Given the description of an element on the screen output the (x, y) to click on. 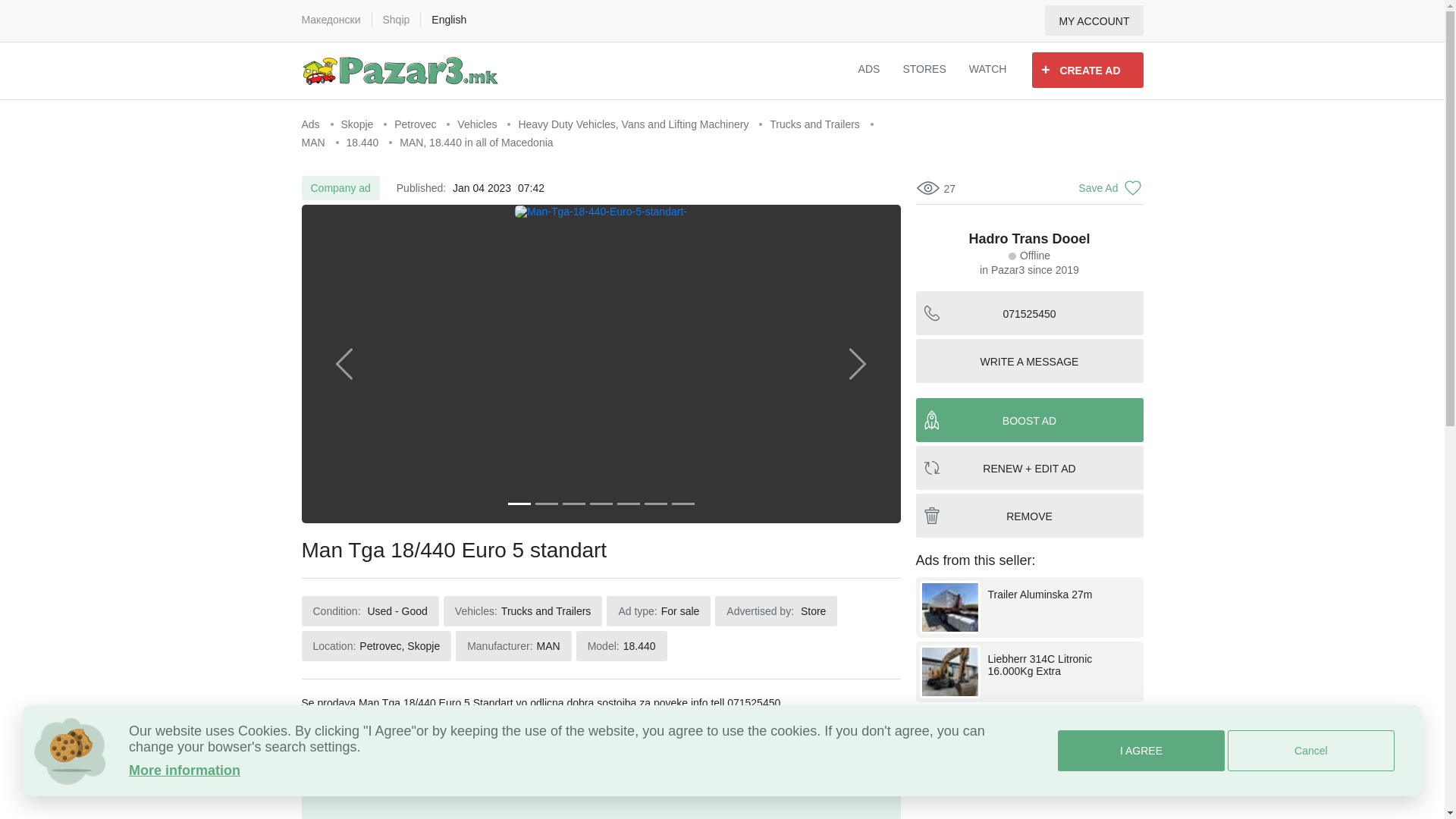
MAN, 18.440 in all of Macedonia (475, 142)
CREATE AD (1087, 69)
STORES (923, 70)
MAN (315, 142)
Ads (312, 123)
Vehicles (478, 123)
Skopje (358, 123)
Petrovec (416, 123)
English (447, 19)
MY ACCOUNT (1093, 20)
